Given the description of an element on the screen output the (x, y) to click on. 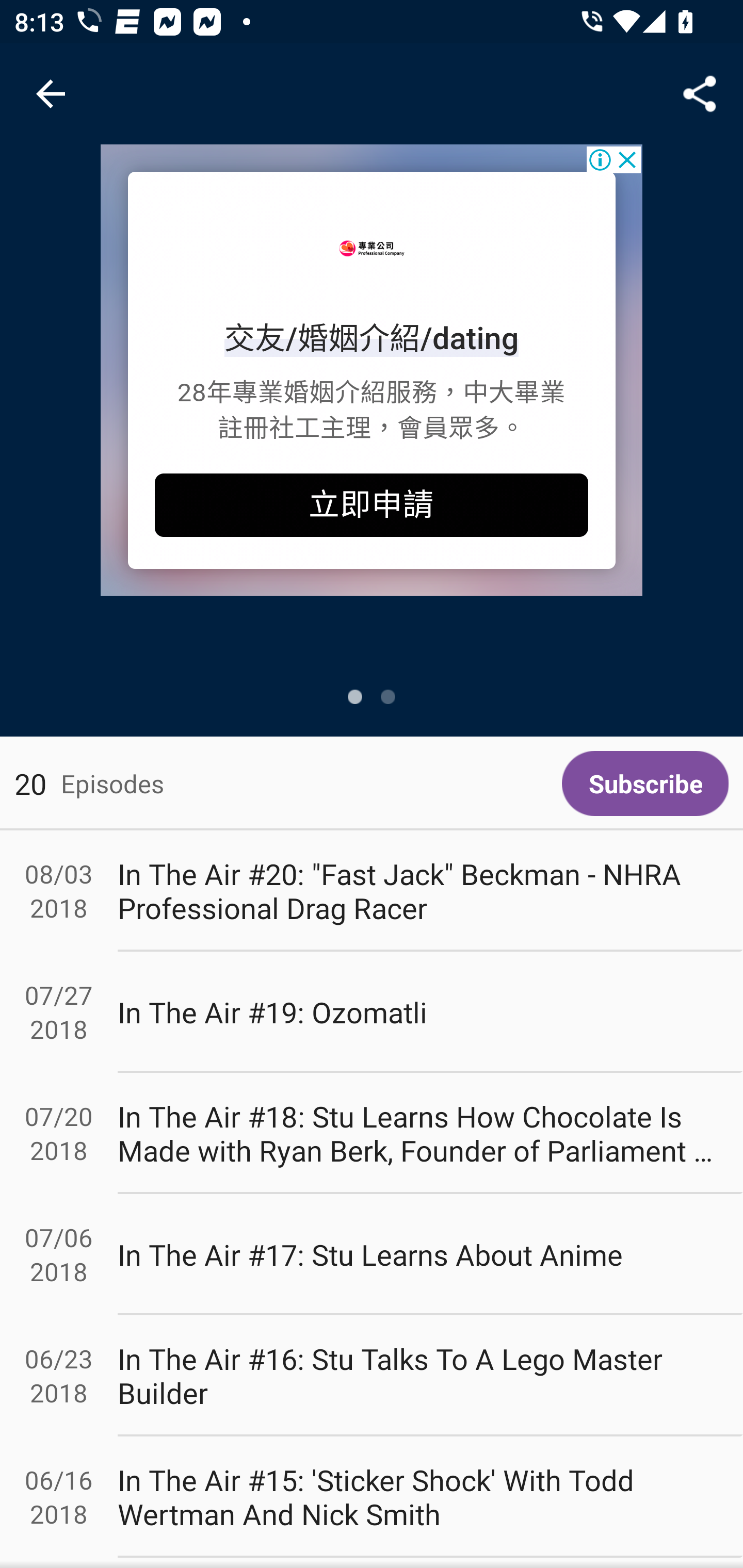
Navigate up (50, 93)
Share... (699, 93)
交友/婚姻介紹/dating (371, 338)
立即申請 (371, 505)
Subscribe (644, 783)
07/27 2018 In The Air #19: Ozomatli (371, 1011)
07/06 2018 In The Air #17: Stu Learns About Anime (371, 1254)
